Given the description of an element on the screen output the (x, y) to click on. 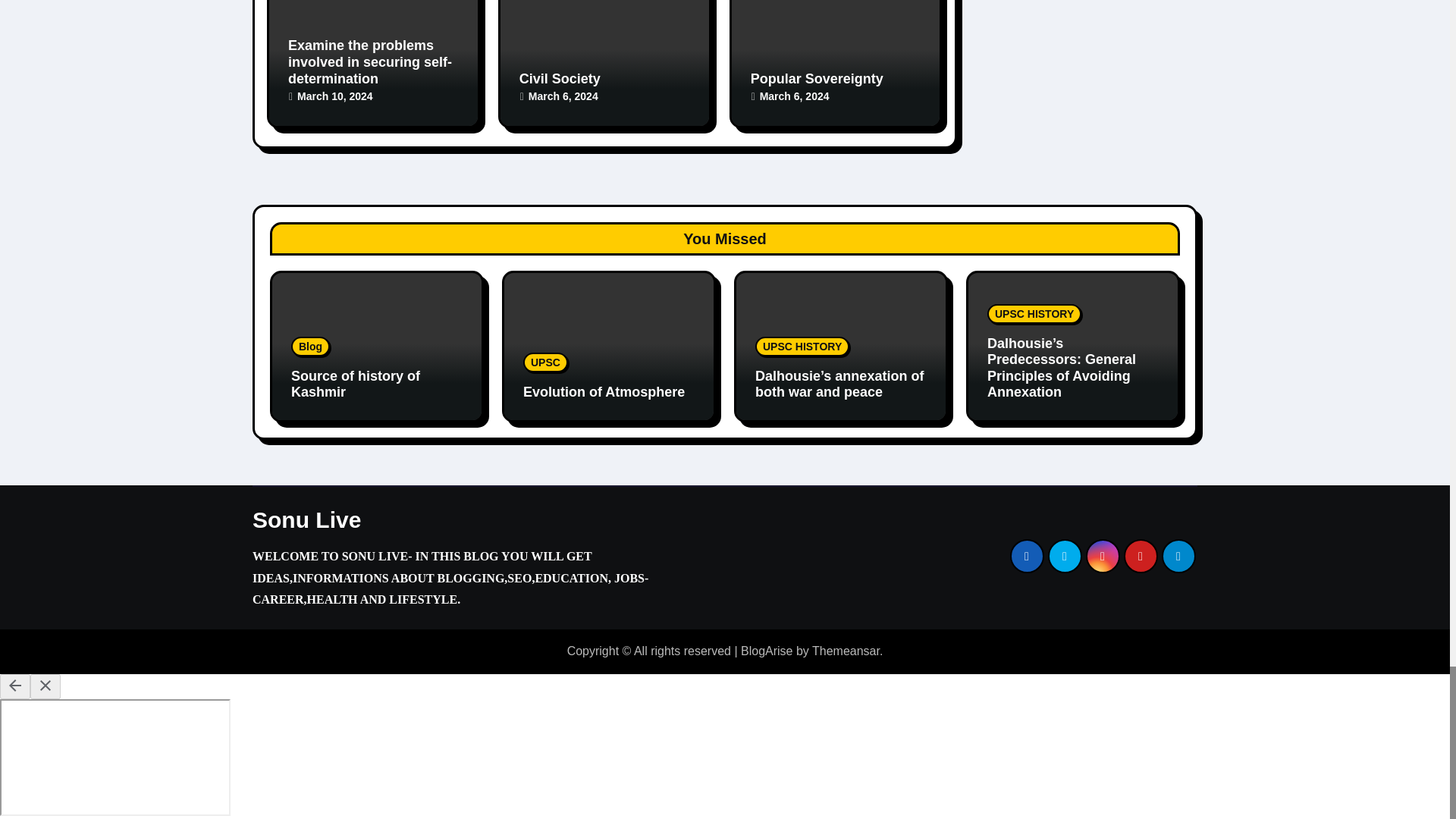
Permalink to: Popular Sovereignty (817, 78)
Permalink to: Civil Society (559, 78)
